Given the description of an element on the screen output the (x, y) to click on. 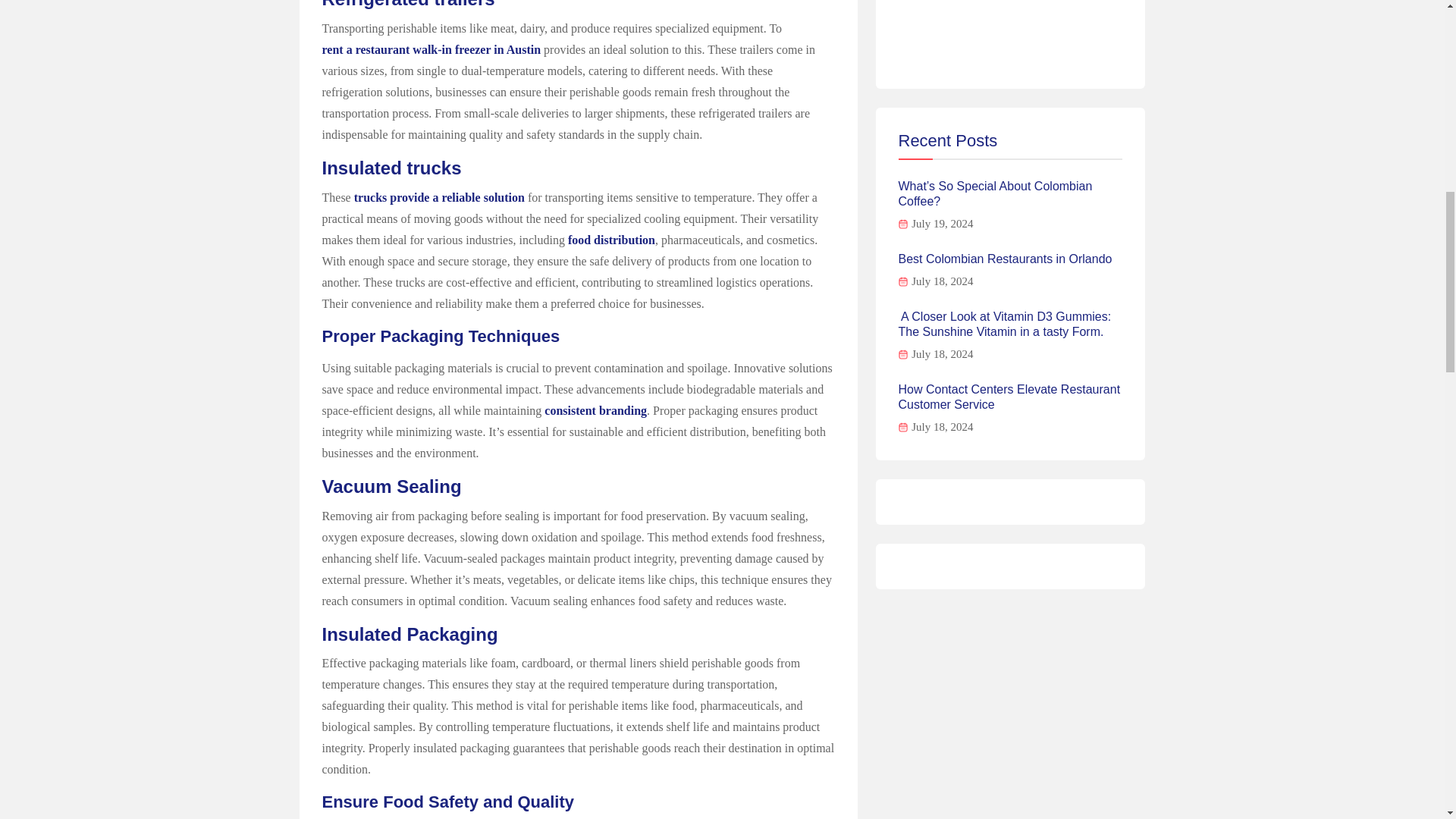
trucks provide a reliable solution (438, 197)
consistent branding (595, 410)
food distribution (611, 239)
How Contact Centers Elevate Restaurant Customer Service (1010, 397)
rent a restaurant walk-in freezer in Austin (430, 49)
Best Colombian Restaurants in Orlando (1005, 258)
Advertisement (1010, 33)
